Given the description of an element on the screen output the (x, y) to click on. 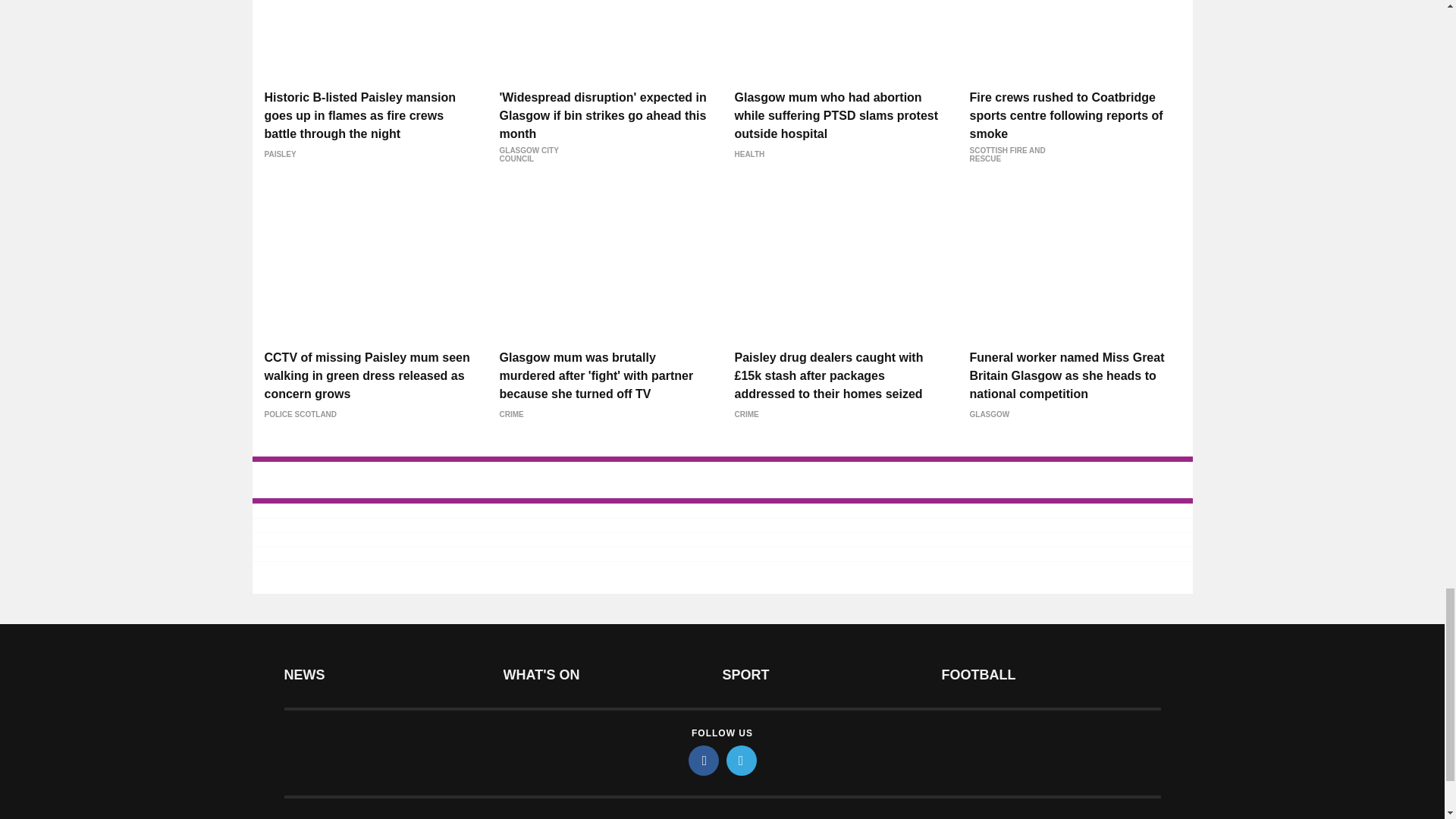
facebook (703, 760)
twitter (741, 760)
